Given the description of an element on the screen output the (x, y) to click on. 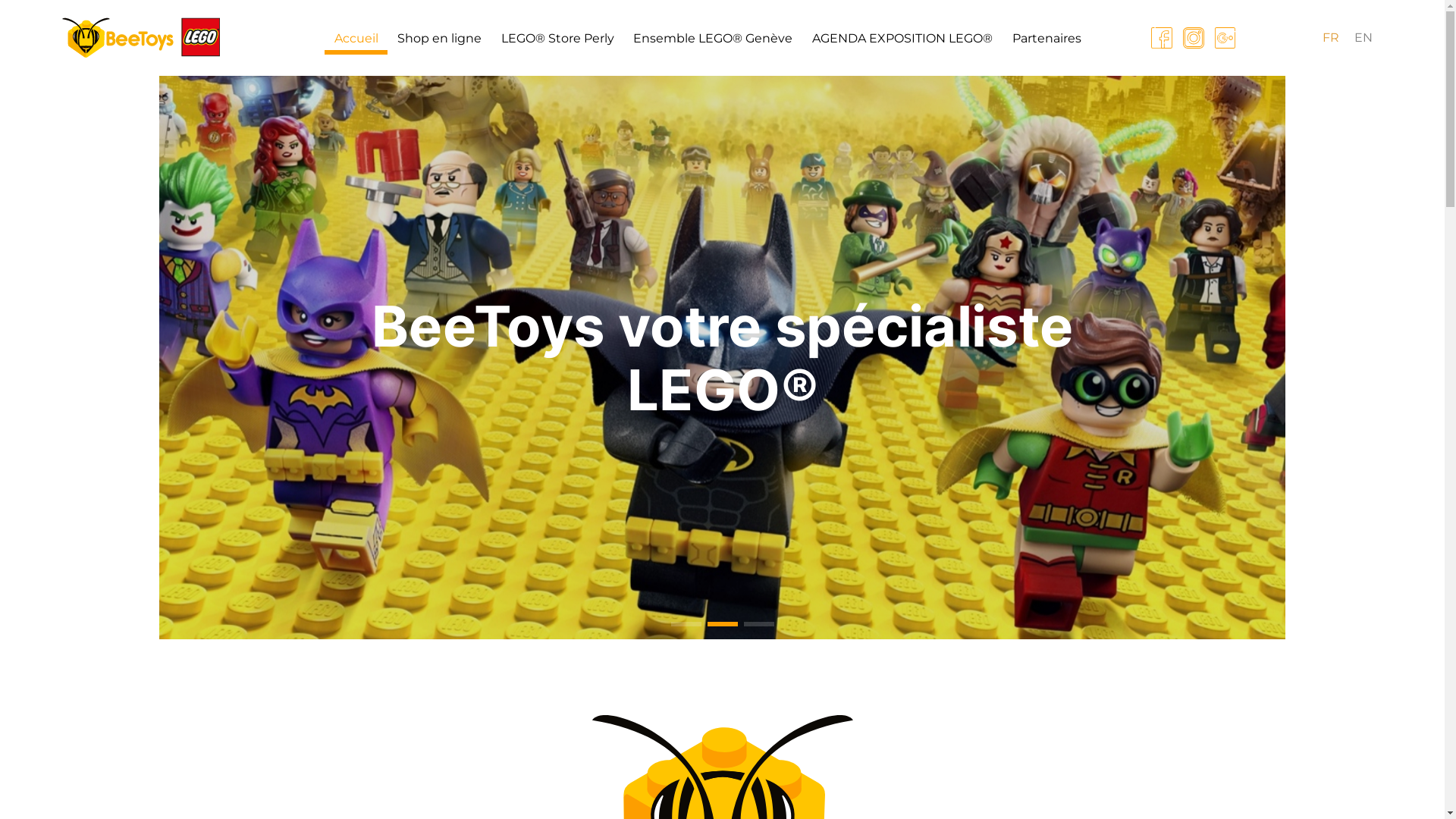
Partenaires Element type: text (1046, 38)
EN Element type: text (1363, 37)
Accueil Element type: text (356, 40)
FR Element type: text (1330, 37)
Shop en ligne Element type: text (439, 38)
